Given the description of an element on the screen output the (x, y) to click on. 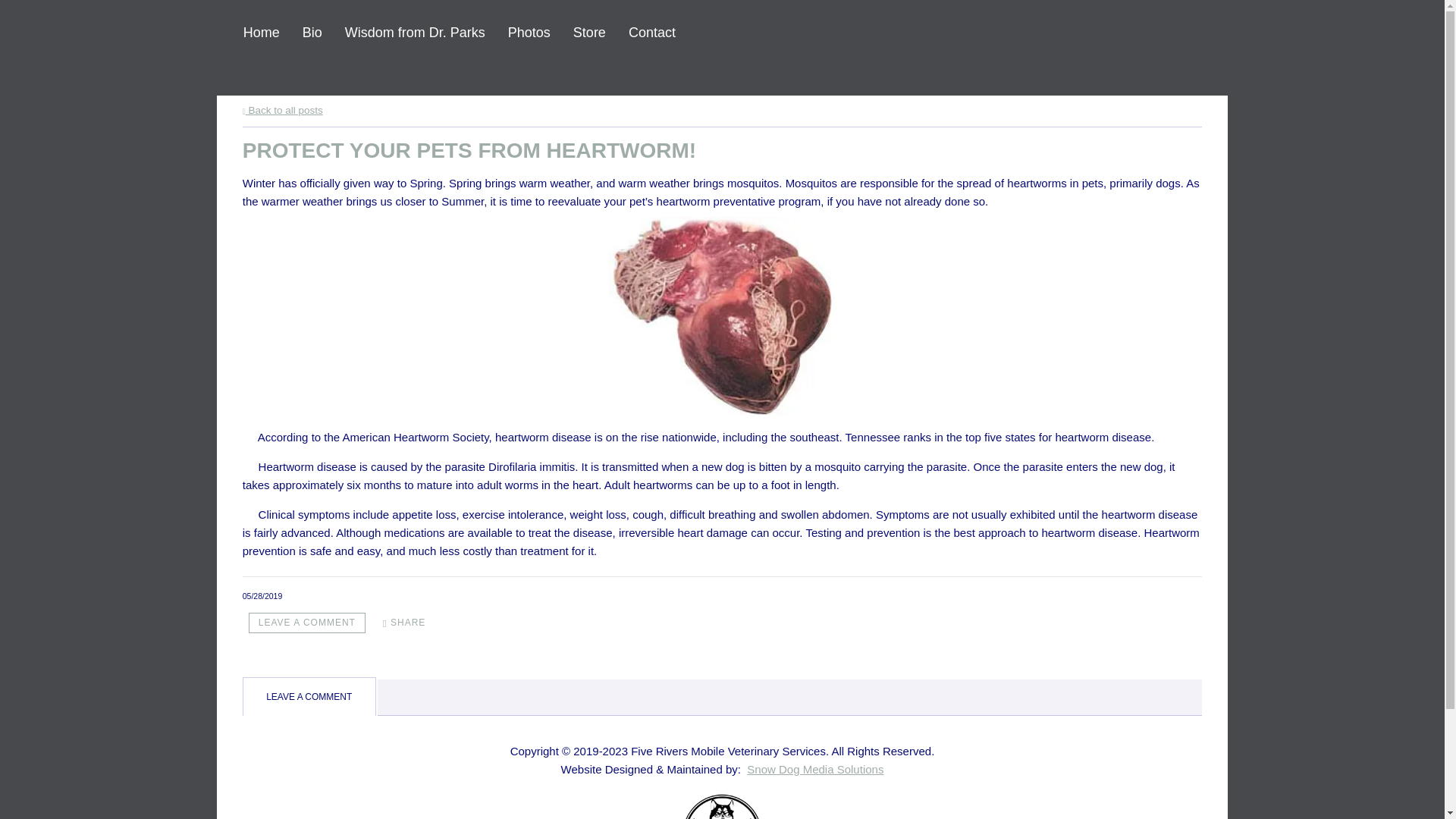
Back to all posts (283, 110)
Home (261, 36)
Leave a comment (306, 622)
LEAVE A COMMENT (306, 622)
Snow Dog Media Solutions (722, 790)
Contact (651, 36)
Store (589, 36)
Wisdom from Dr. Parks (414, 36)
Share Protect Your Pets from Heartworm! (404, 622)
Photos (529, 36)
May 28, 2019 18:06 (262, 595)
SHARE (404, 622)
